Given the description of an element on the screen output the (x, y) to click on. 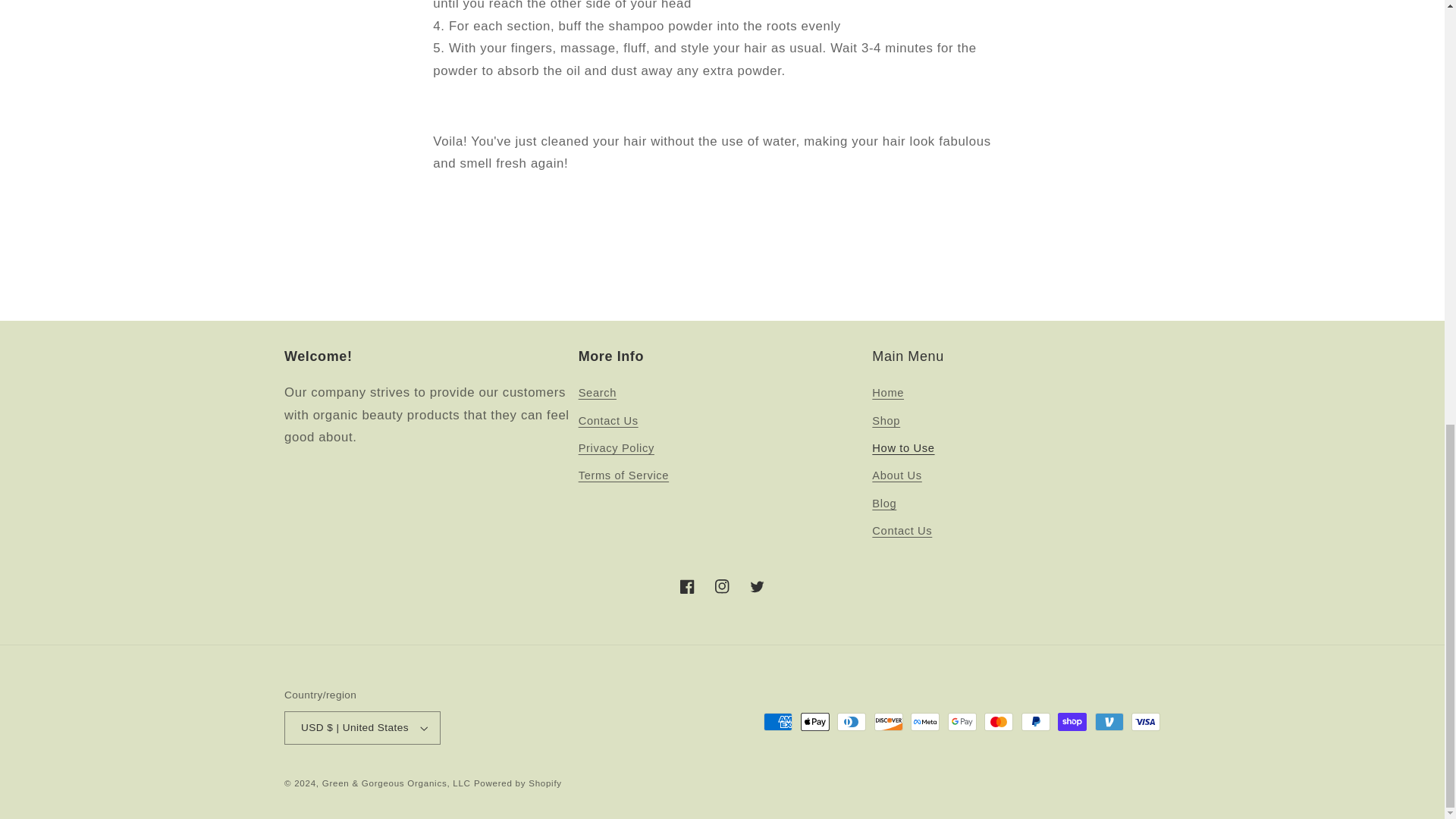
How to Use (903, 448)
Contact Us (901, 531)
Terms of Service (623, 475)
Privacy Policy (615, 448)
Home (888, 395)
Shop (885, 420)
Contact Us (608, 420)
About Us (896, 475)
Search (596, 395)
